Given the description of an element on the screen output the (x, y) to click on. 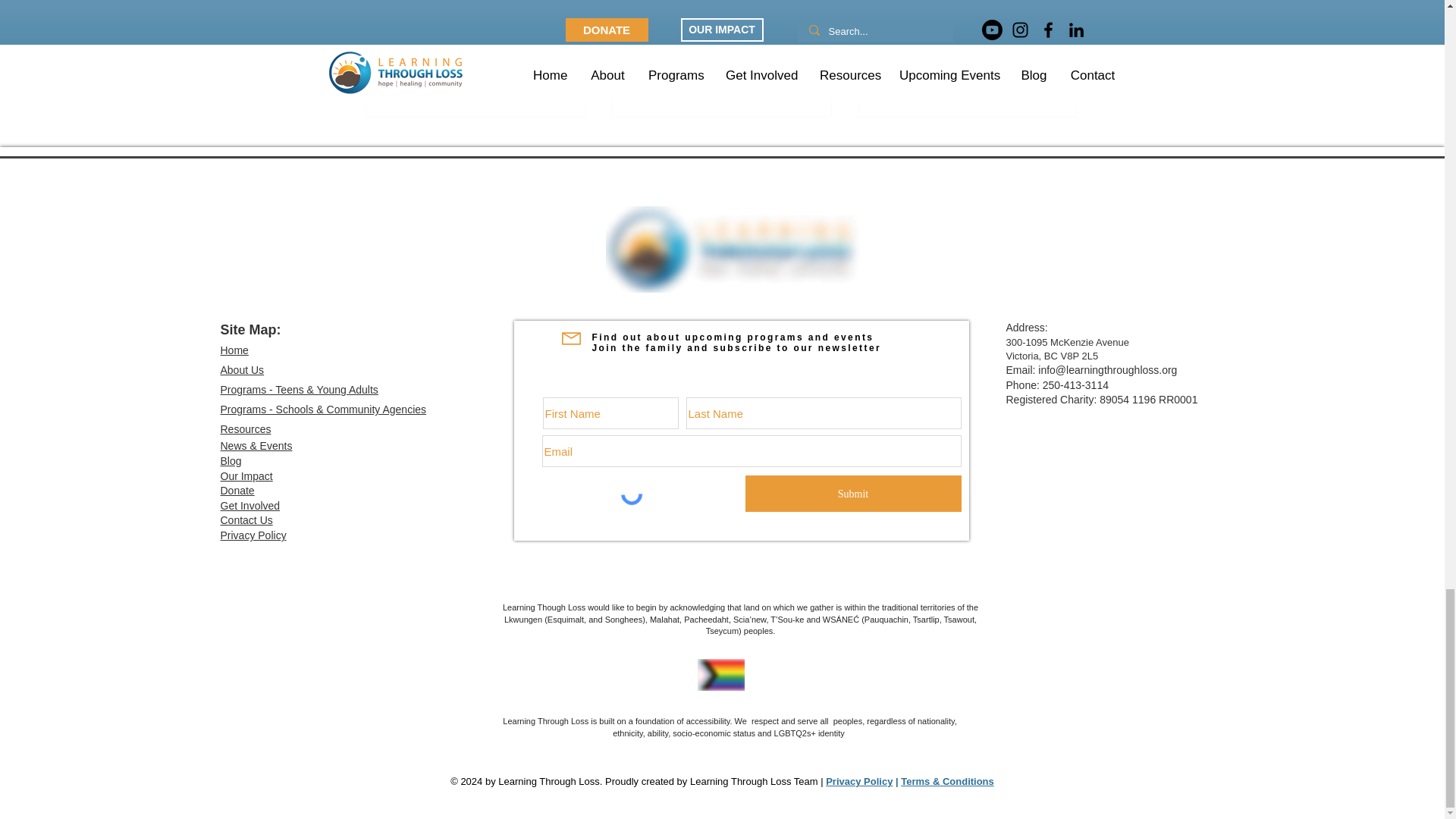
Learning Through Loss - Logo (732, 249)
